Given the description of an element on the screen output the (x, y) to click on. 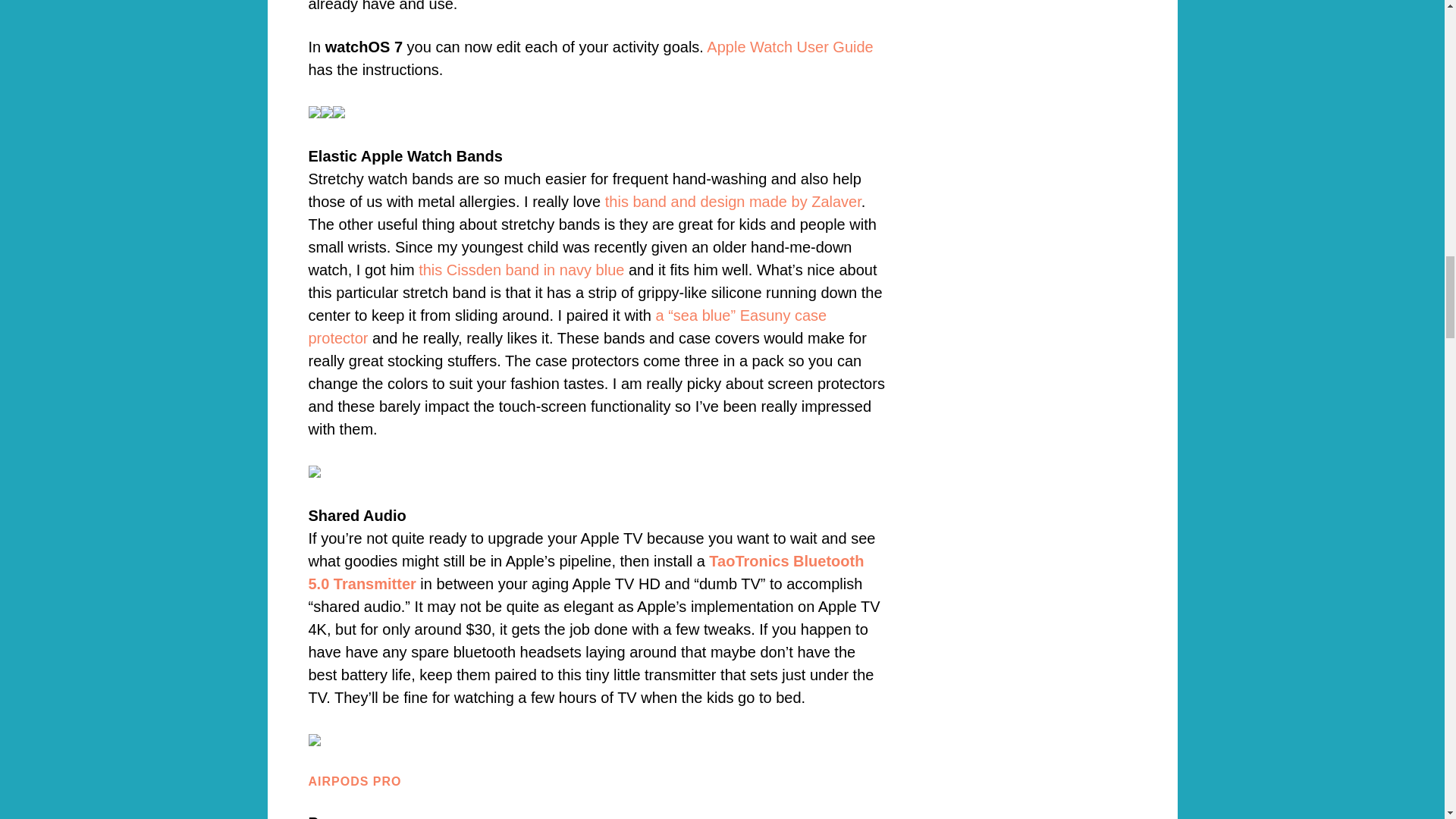
Apple Watch User Guide (789, 46)
